Given the description of an element on the screen output the (x, y) to click on. 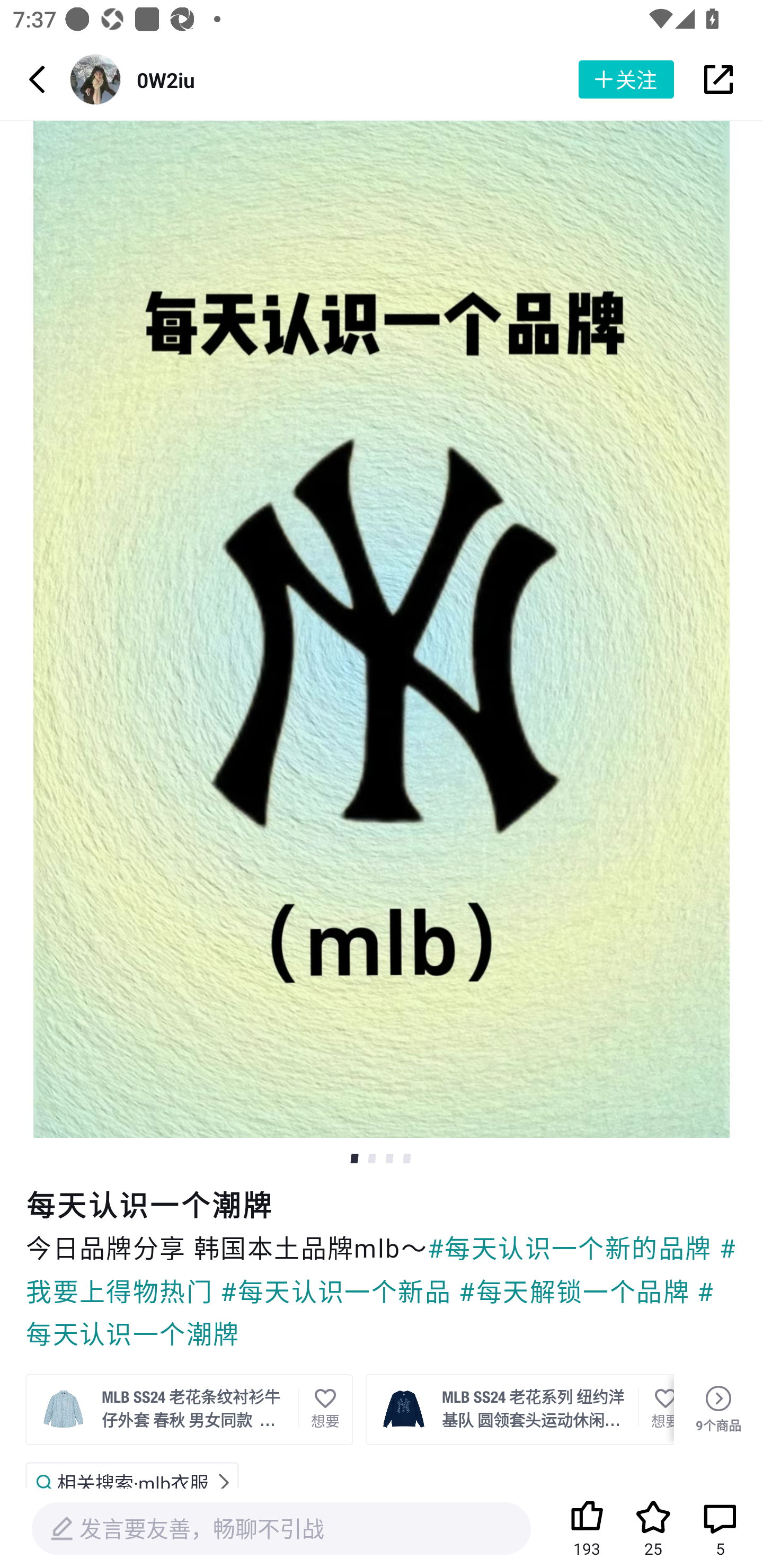
关注 (625, 79)
0W2iu (165, 79)
每天认识一个潮牌 (381, 1204)
9个商品 (718, 1409)
MLB SS24 老花条纹衬衫牛仔外套 春秋 男女同款  浅蓝色 想要 (188, 1409)
MLB SS24 老花系列 纽约洋基队 圆领套头运动休闲早春卫衣 男女同款  藏青色 想要 (519, 1409)
想要 (325, 1408)
想要 (655, 1408)
发言要友善，畅聊不引战 (281, 1528)
